Given the description of an element on the screen output the (x, y) to click on. 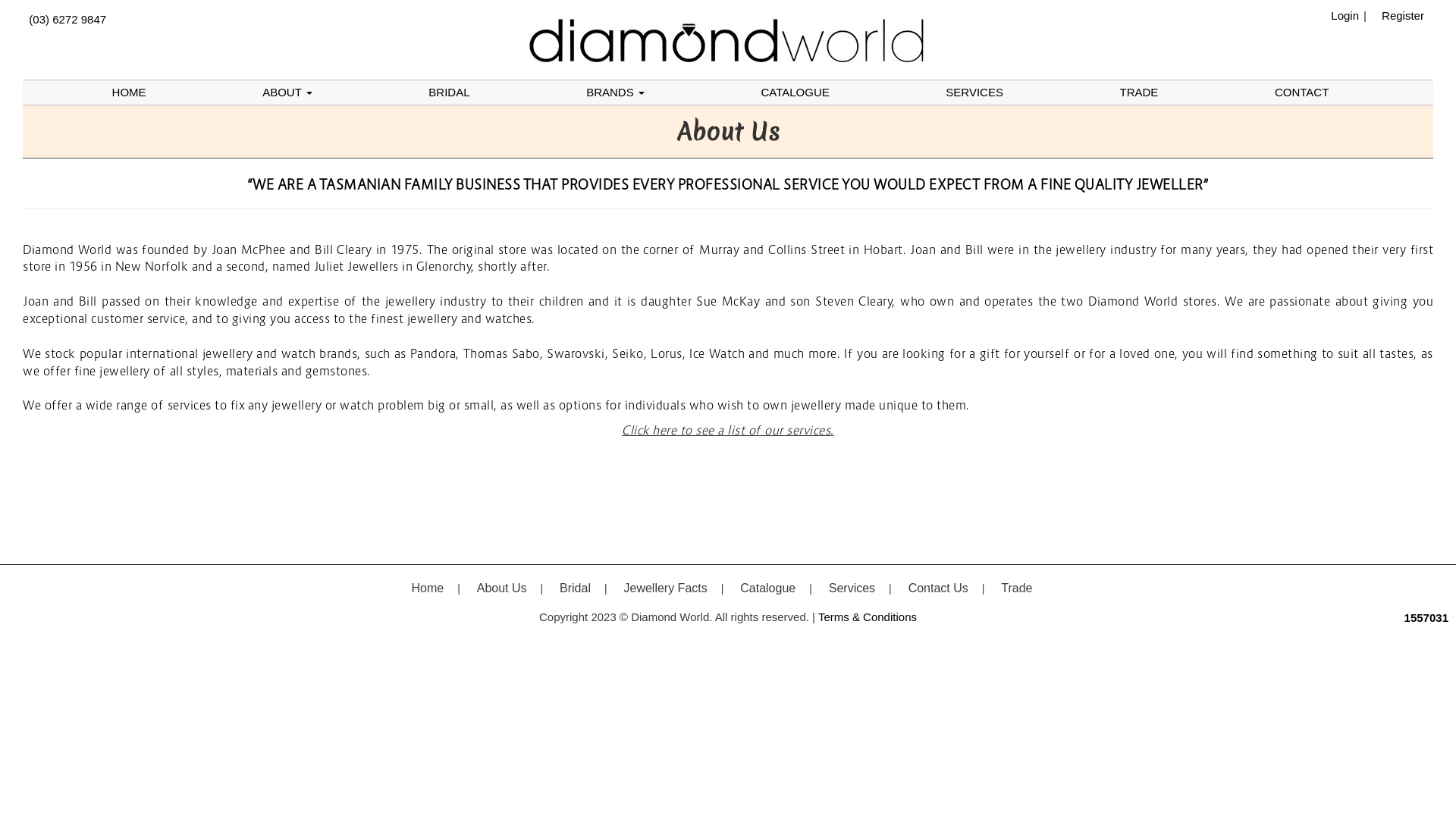
ABOUT Element type: text (287, 92)
Services Element type: text (851, 587)
CONTACT Element type: text (1301, 92)
Catalogue Element type: text (767, 587)
Terms & Conditions Element type: text (867, 616)
CATALOGUE Element type: text (794, 92)
Jewellery Facts Element type: text (664, 587)
Click here to see a list of our services. Element type: text (727, 429)
Contact Us Element type: text (937, 587)
BRANDS Element type: text (615, 92)
Register Element type: text (1399, 15)
Follow Dimond World on Facebook Element type: hover (720, 646)
SERVICES Element type: text (974, 92)
TRADE Element type: text (1138, 92)
Trade Element type: text (1016, 587)
Follow Dimond World on Instagram Element type: hover (1429, 39)
Bridal Element type: text (575, 587)
Login Element type: text (1340, 15)
About Us Element type: text (501, 587)
Follow Dimond World on Instagram Element type: hover (734, 646)
HOME Element type: text (129, 92)
Follow Dimond World on Facebook Element type: hover (1420, 39)
Home Element type: text (427, 587)
Diamond World in Glenorchy, TAS Element type: hover (727, 39)
BRIDAL Element type: text (448, 92)
